Given the description of an element on the screen output the (x, y) to click on. 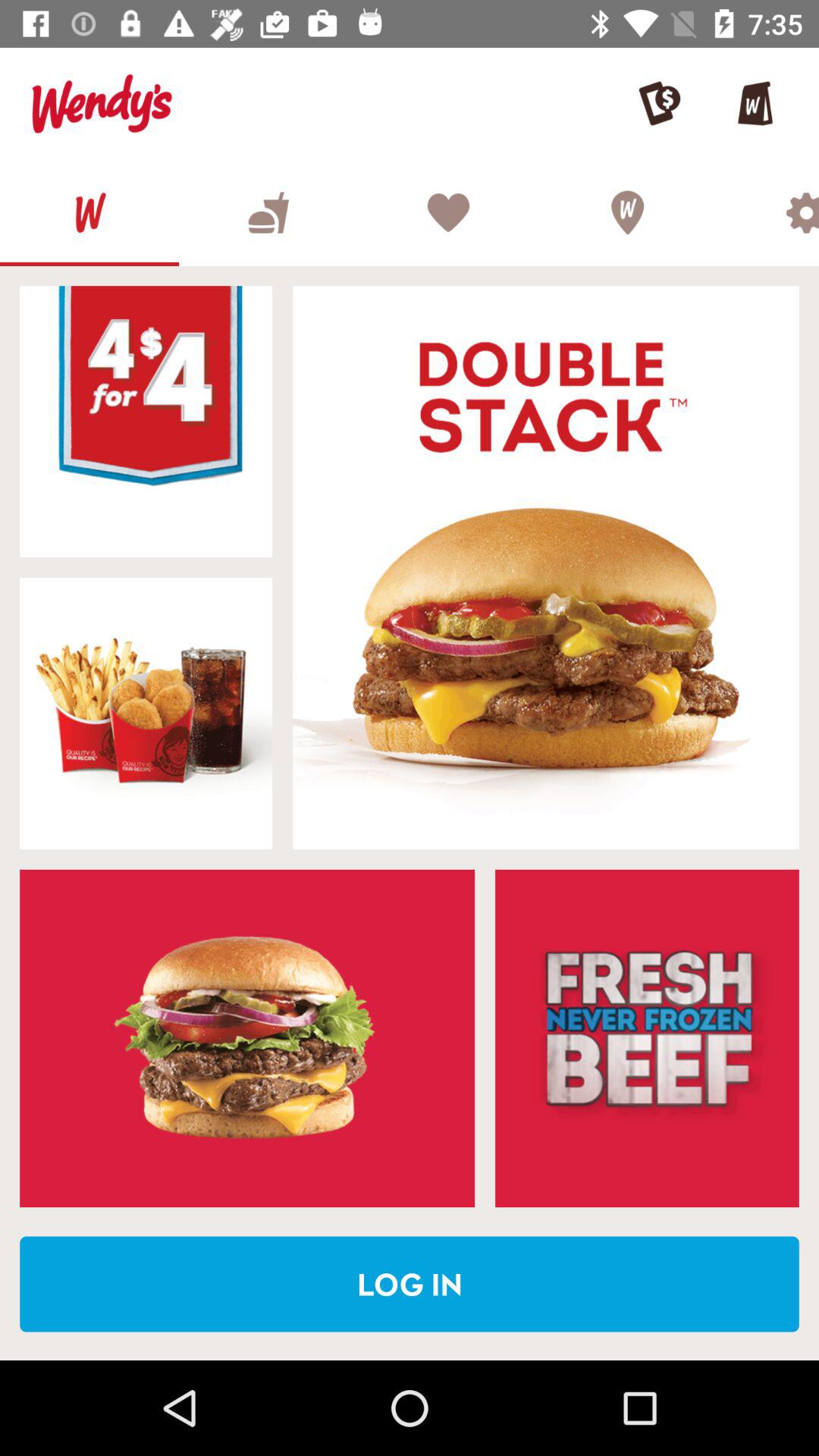
flip until log in icon (409, 1284)
